Given the description of an element on the screen output the (x, y) to click on. 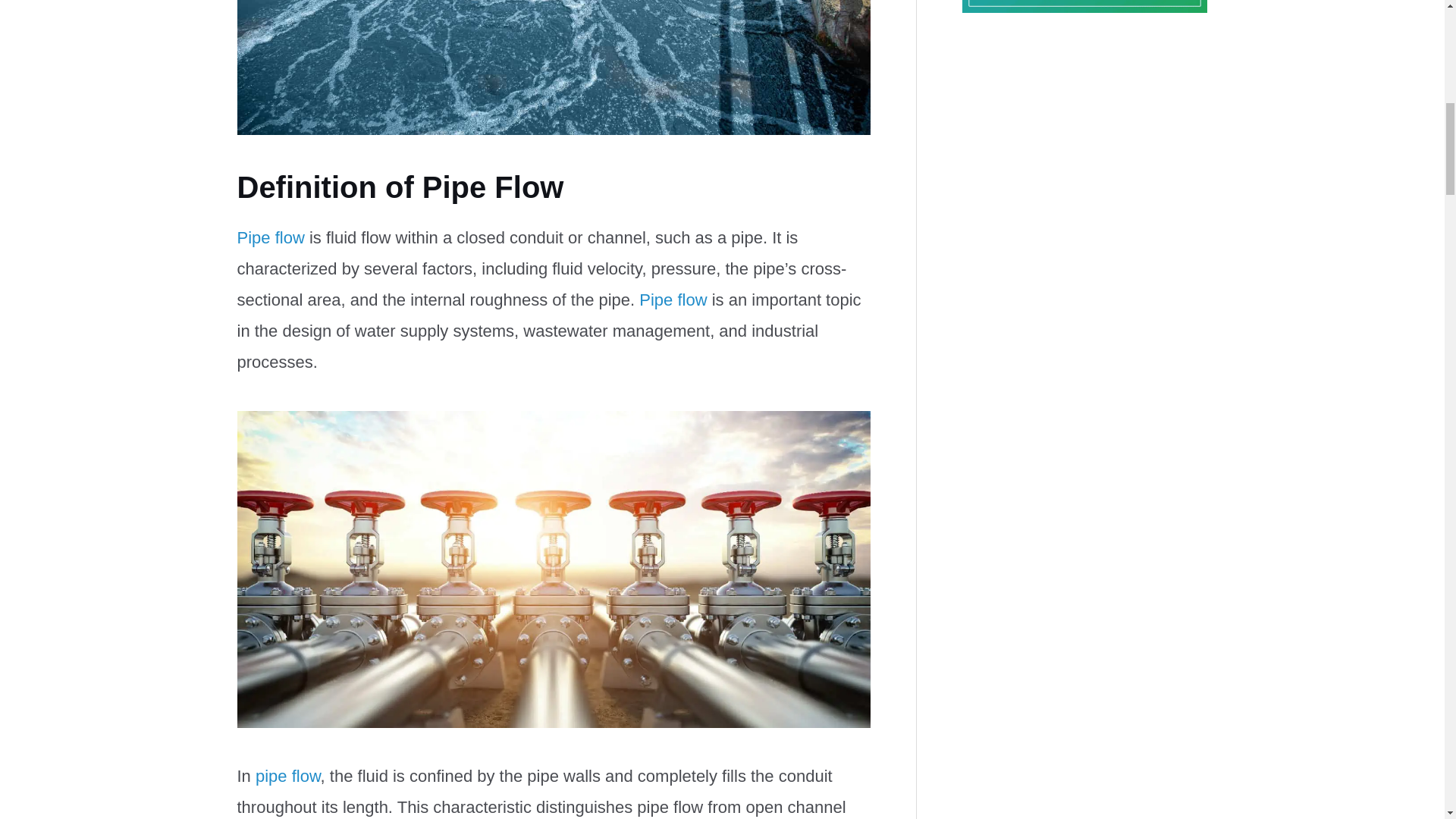
Pipe flow (672, 299)
Pipe flow (269, 237)
pipe flow (288, 775)
